Given the description of an element on the screen output the (x, y) to click on. 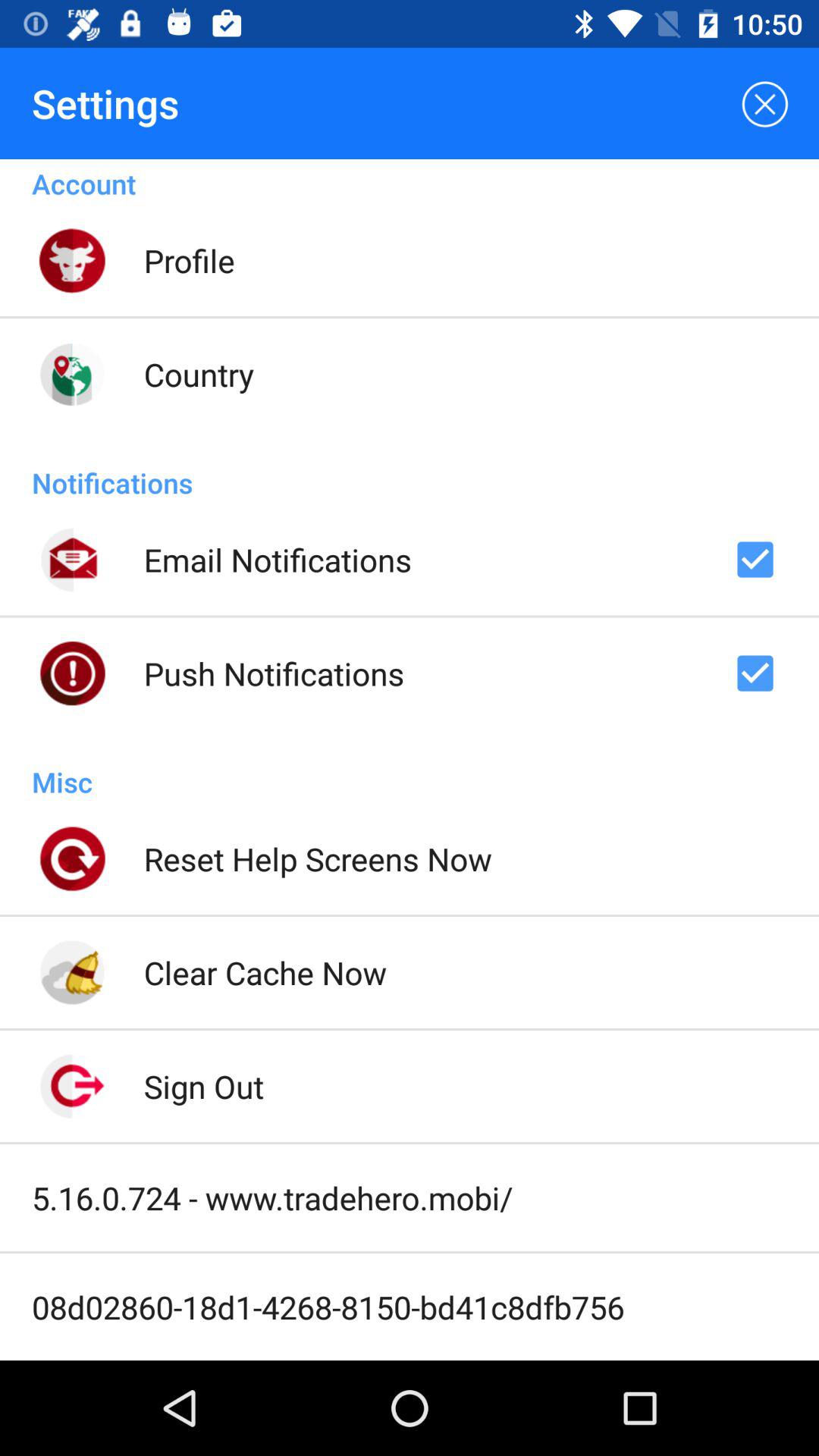
jump until clear cache now icon (264, 972)
